Given the description of an element on the screen output the (x, y) to click on. 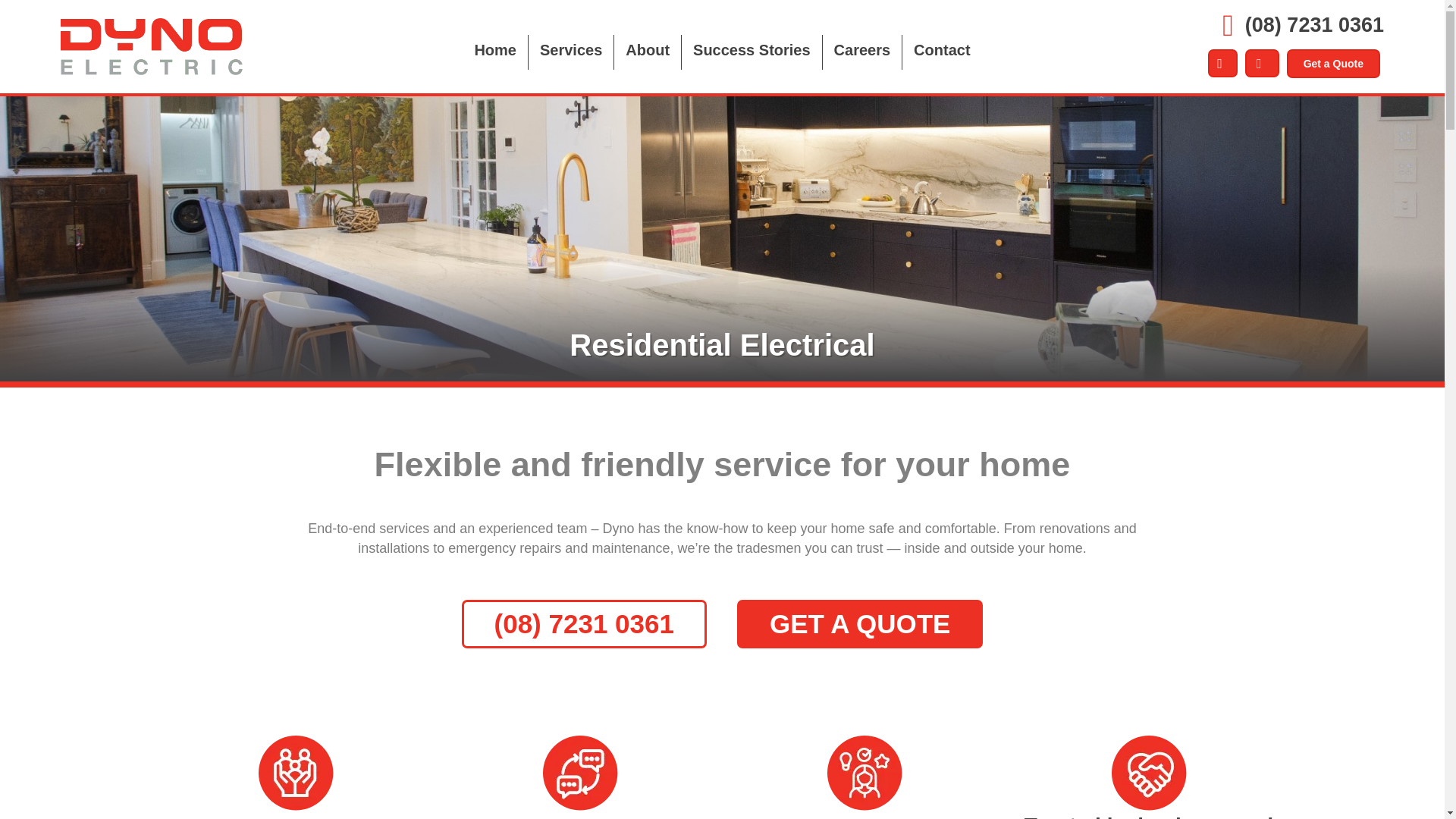
About (647, 52)
Careers (862, 52)
Success Stories (751, 52)
Get a Quote (1333, 63)
Group 713 (152, 47)
Contact (941, 52)
Home (495, 52)
Group 370 (295, 772)
Group 378 (1149, 772)
Group 373 (864, 772)
